Given the description of an element on the screen output the (x, y) to click on. 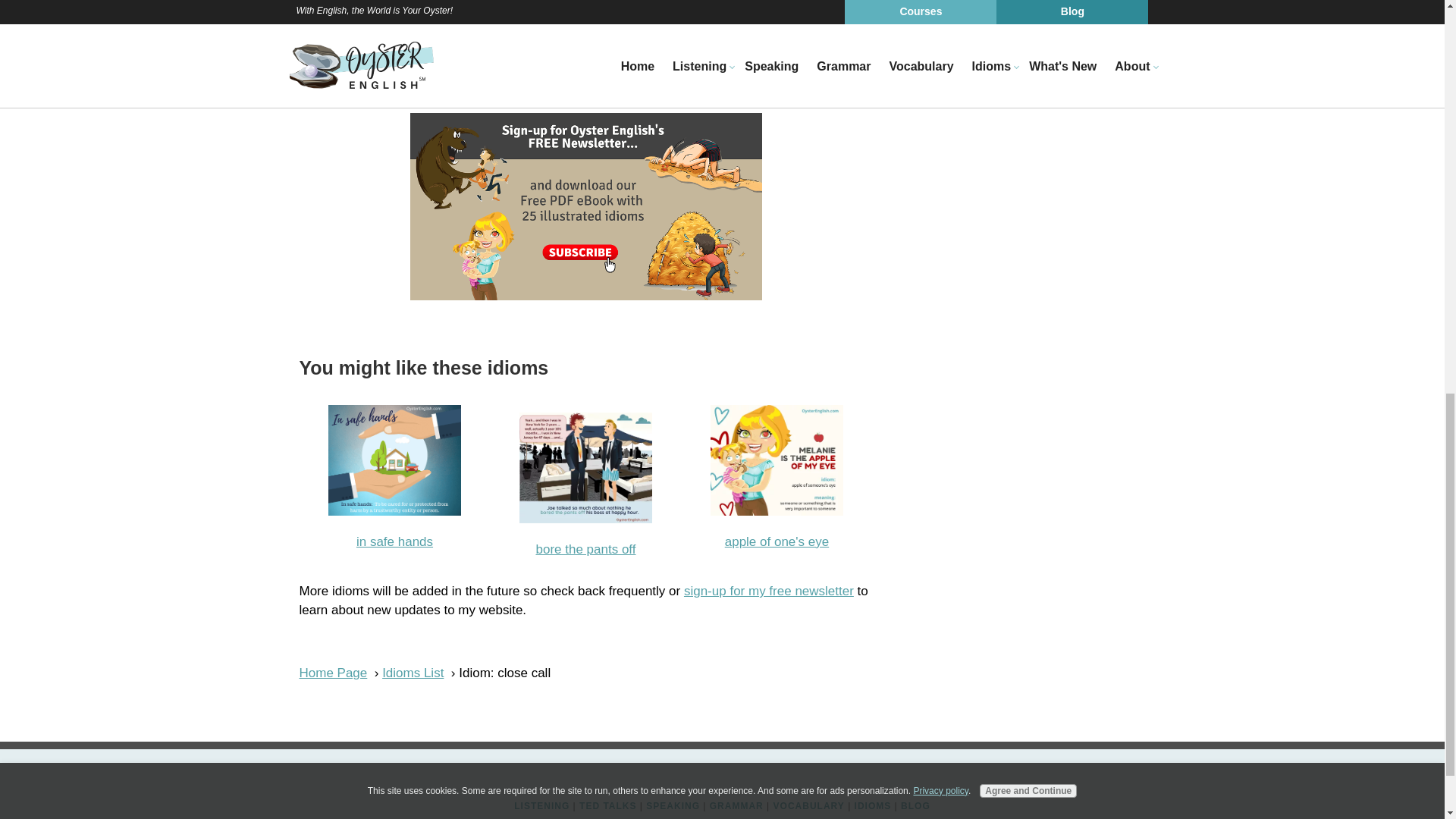
GRAMMAR (736, 805)
in safe hands (394, 541)
IDIOMS (872, 805)
bore the pants off (584, 549)
VOCABULARY (808, 805)
apple of one's eye (776, 541)
Idioms List (412, 672)
TED TALKS (607, 805)
LISTENING (541, 805)
Go to Signup and receive a free idioms ebook (585, 296)
Home Page (332, 672)
BLOG (915, 805)
Go to Bore the Pants Off Idiom (585, 518)
SPEAKING (673, 805)
sign-up for my free newsletter (768, 590)
